Given the description of an element on the screen output the (x, y) to click on. 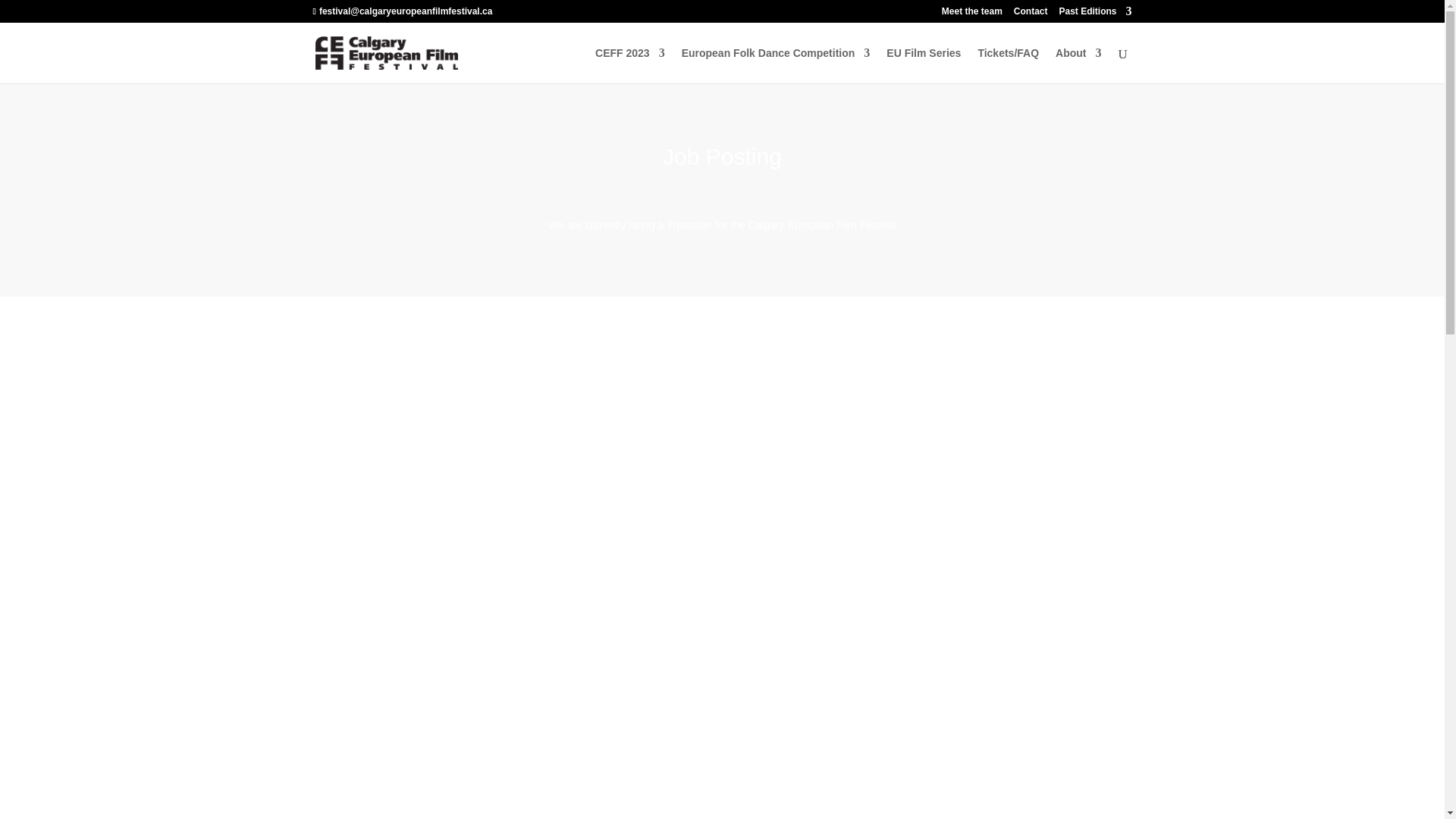
Meet the team (972, 14)
About (1077, 65)
European Folk Dance Competition (775, 65)
EU Film Series (923, 65)
CEFF 2023 (630, 65)
Contact (1030, 14)
Past Editions (1094, 14)
